Given the description of an element on the screen output the (x, y) to click on. 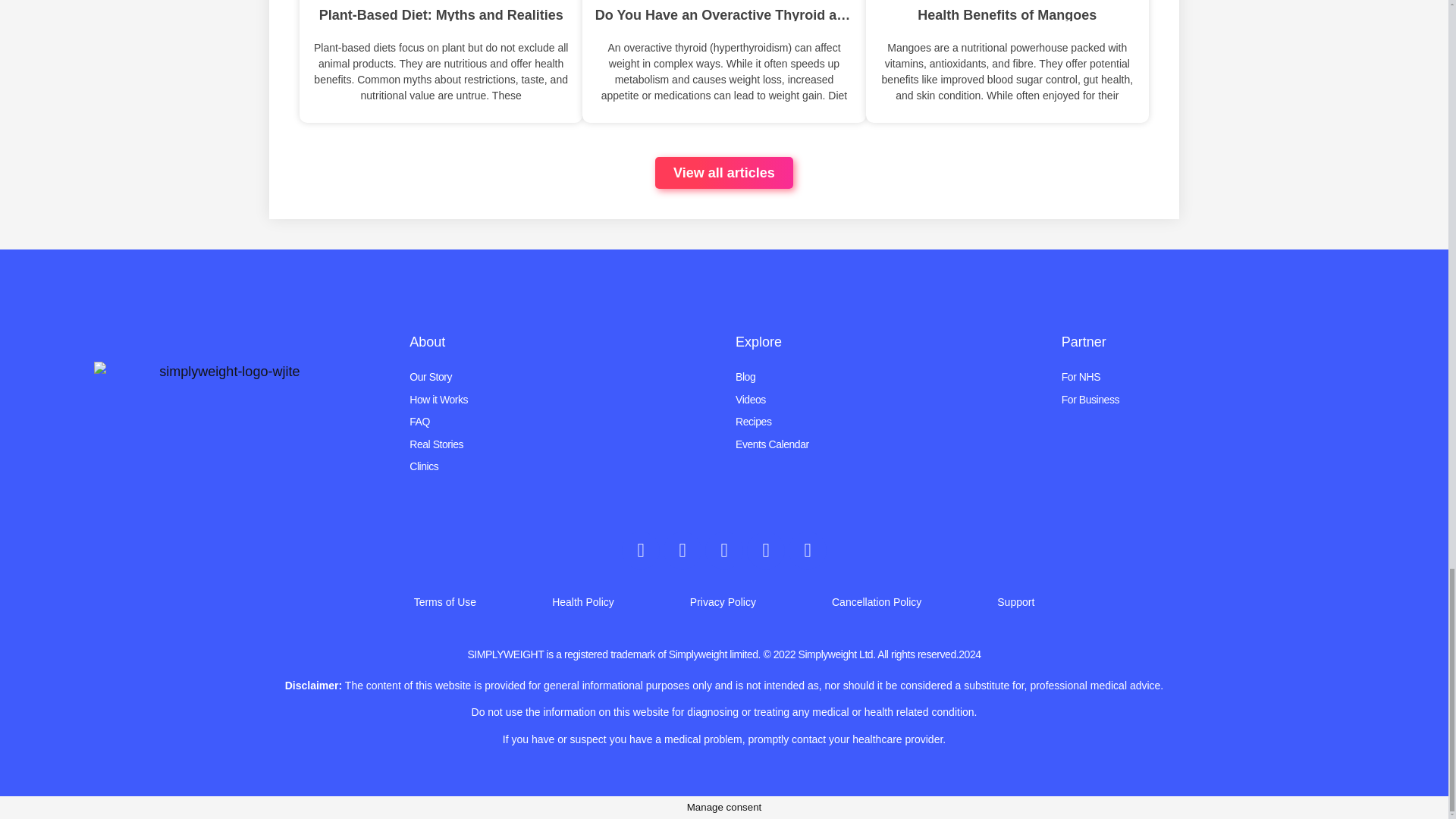
How it Works (561, 399)
Our Story (561, 376)
FAQ (561, 421)
Health Benefits of Mangoes (1007, 12)
View all articles (724, 173)
Real Stories (561, 444)
Plant-Based Diet: Myths and Realities (440, 12)
Clinics (561, 465)
